Given the description of an element on the screen output the (x, y) to click on. 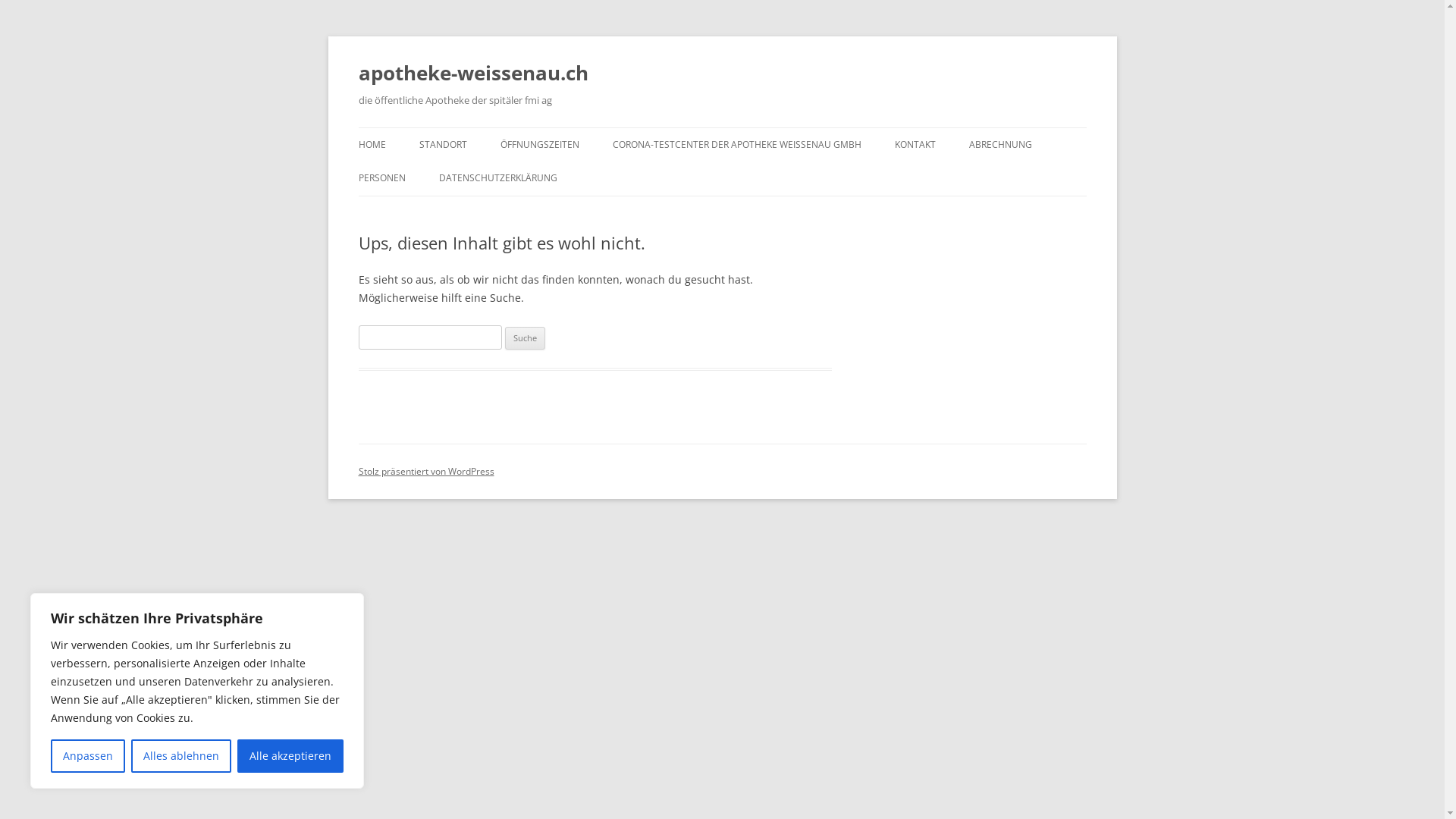
HOME Element type: text (371, 144)
Alle akzeptieren Element type: text (290, 755)
PERSONEN Element type: text (380, 177)
Anpassen Element type: text (87, 755)
Suche Element type: text (525, 337)
Zum Inhalt springen Element type: text (721, 127)
apotheke-weissenau.ch Element type: text (472, 72)
Alles ablehnen Element type: text (181, 755)
KONTAKT Element type: text (914, 144)
STANDORT Element type: text (442, 144)
CORONA-TESTCENTER DER APOTHEKE WEISSENAU GMBH Element type: text (736, 144)
ABRECHNUNG Element type: text (1000, 144)
